Given the description of an element on the screen output the (x, y) to click on. 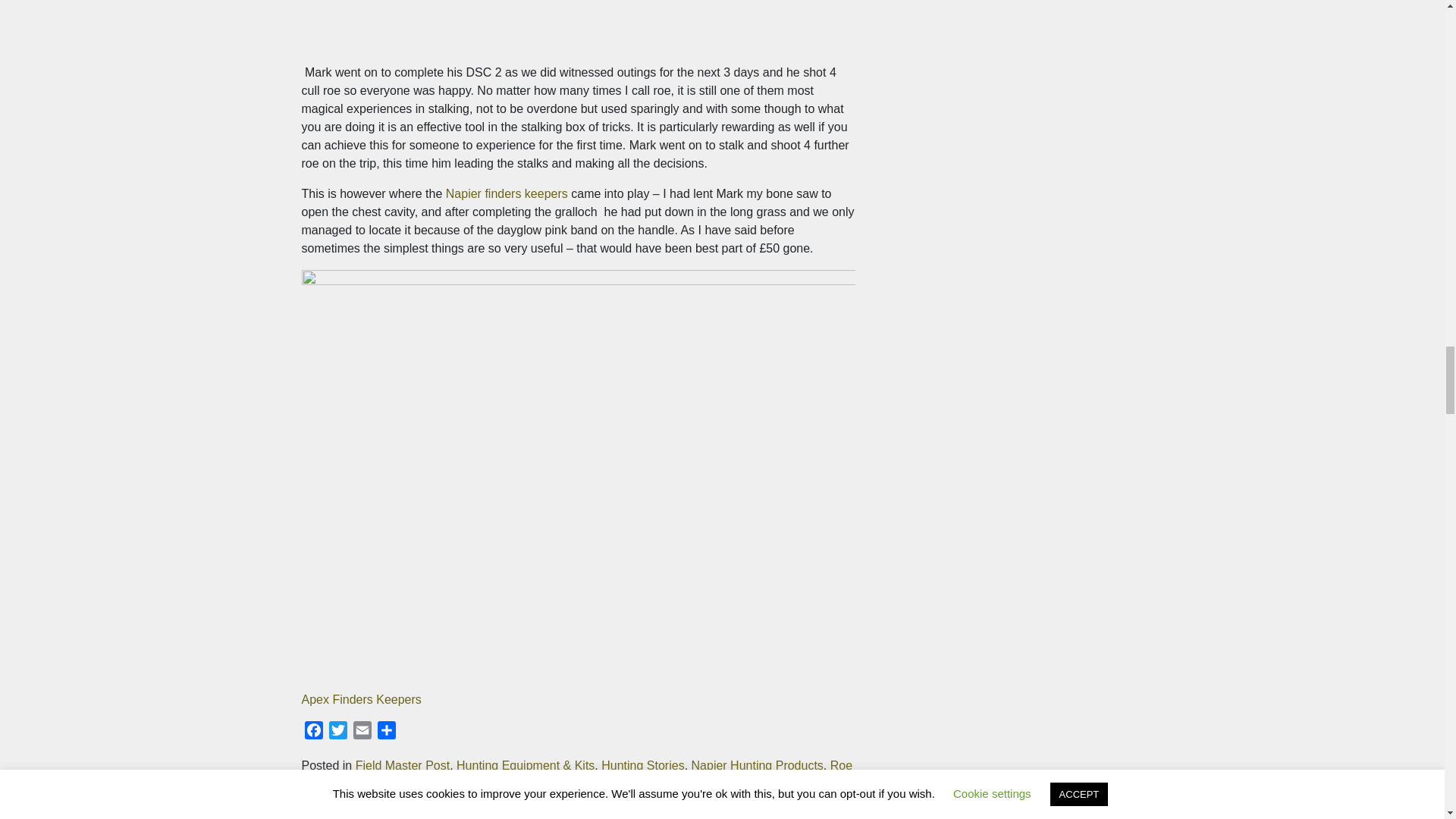
Email (362, 732)
Twitter (338, 732)
Facebook (313, 732)
